Given the description of an element on the screen output the (x, y) to click on. 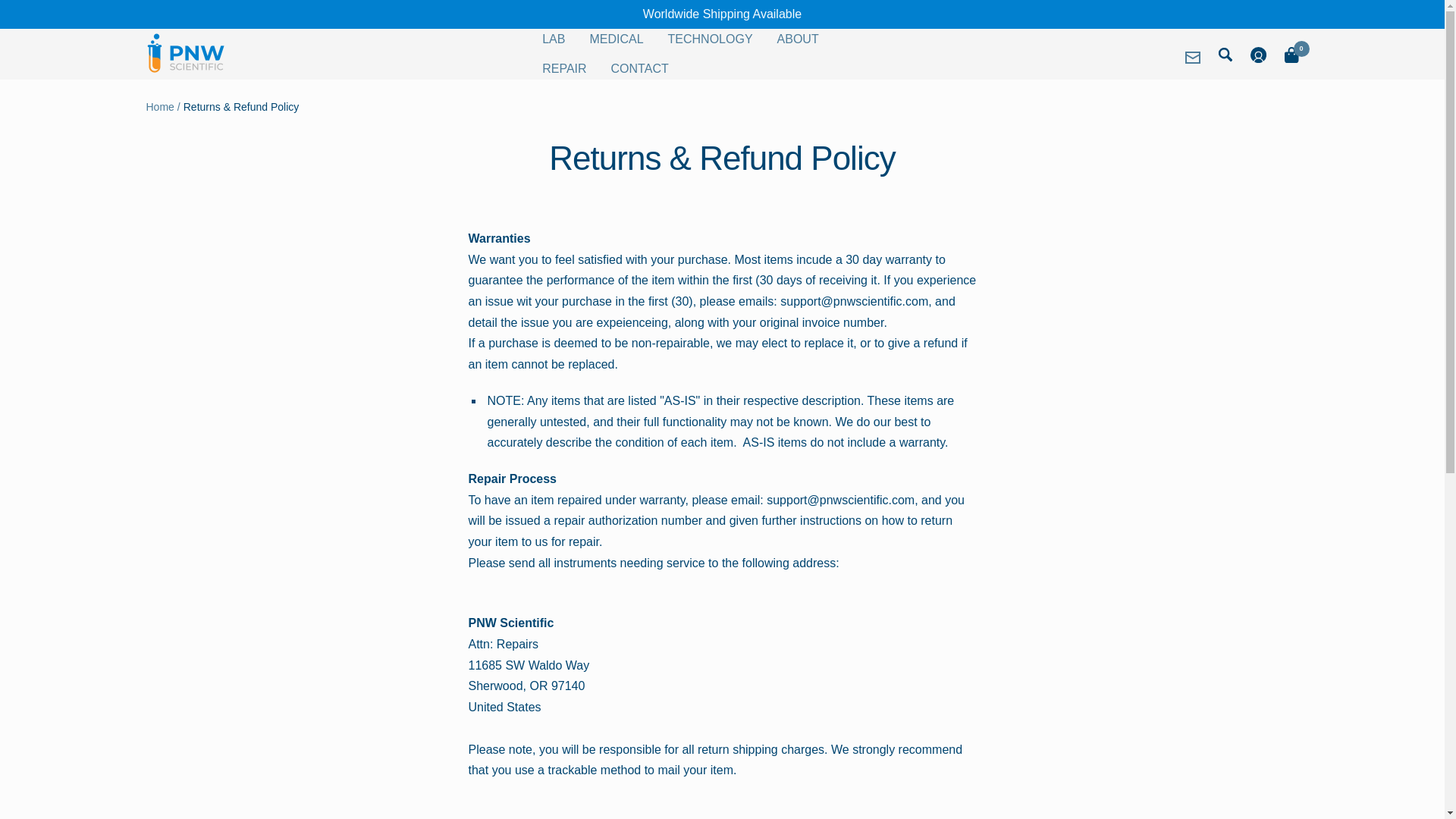
Home (159, 106)
PNW Scientific (185, 53)
CONTACT (639, 68)
MEDICAL (616, 38)
ABOUT (797, 38)
Newsletter (1192, 57)
REPAIR (563, 68)
LAB (552, 38)
TECHNOLOGY (710, 38)
